Given the description of an element on the screen output the (x, y) to click on. 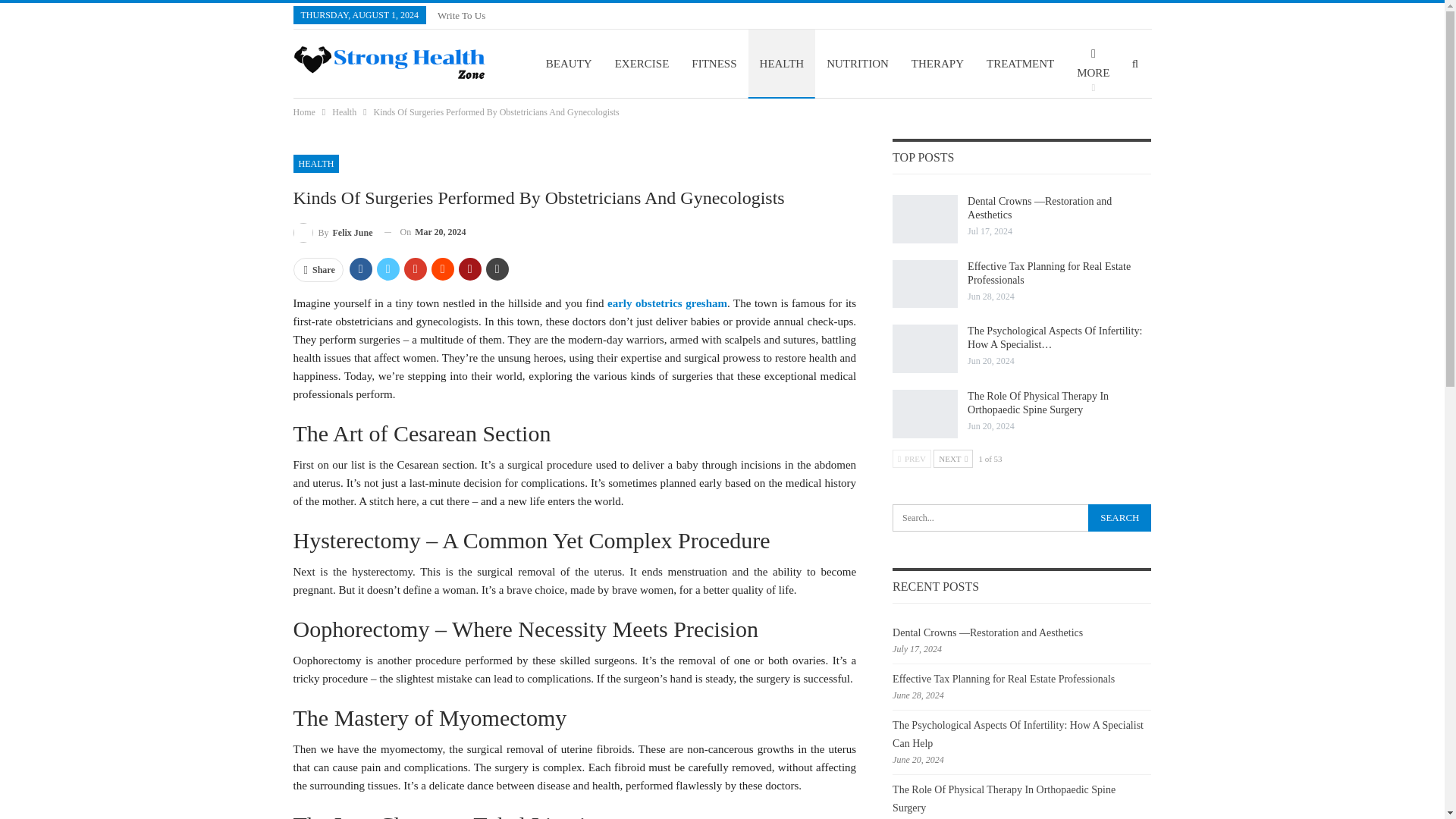
NUTRITION (857, 63)
Search (1119, 516)
early obstetrics gresham (666, 303)
HEALTH (315, 163)
Health (343, 112)
BEAUTY (569, 63)
Search (1119, 516)
Write To Us (461, 15)
TREATMENT (1020, 63)
Effective Tax Planning for Real Estate Professionals (925, 284)
HEALTH (781, 63)
Browse Author Articles (332, 231)
Home (303, 112)
THERAPY (937, 63)
EXERCISE (642, 63)
